Given the description of an element on the screen output the (x, y) to click on. 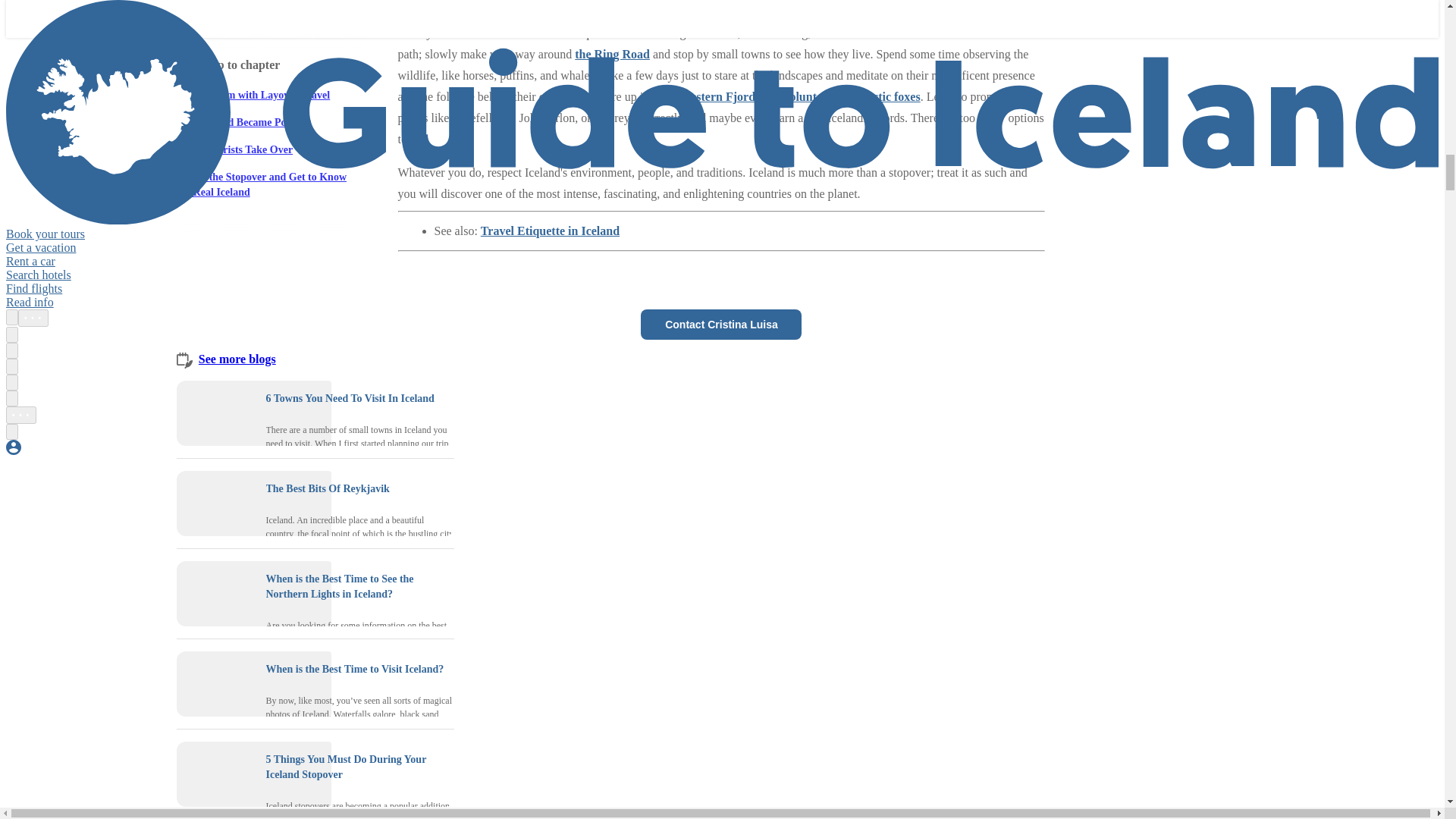
The Best Bits Of Reykjavik (326, 488)
5 Things You Must Do During Your Iceland Stopover (214, 774)
5 Things You Must Do During Your Iceland Stopover (345, 766)
When is the Best Time to See the Northern Lights in Iceland? (214, 593)
6 Towns You Need To Visit In Iceland (348, 398)
6 Towns You Need To Visit In Iceland (214, 412)
When is the Best Time to Visit Iceland? (214, 683)
When is the Best Time to See the Northern Lights in Iceland? (338, 586)
The Best Bits Of Reykjavik (214, 503)
When is the Best Time to Visit Iceland? (354, 668)
